Given the description of an element on the screen output the (x, y) to click on. 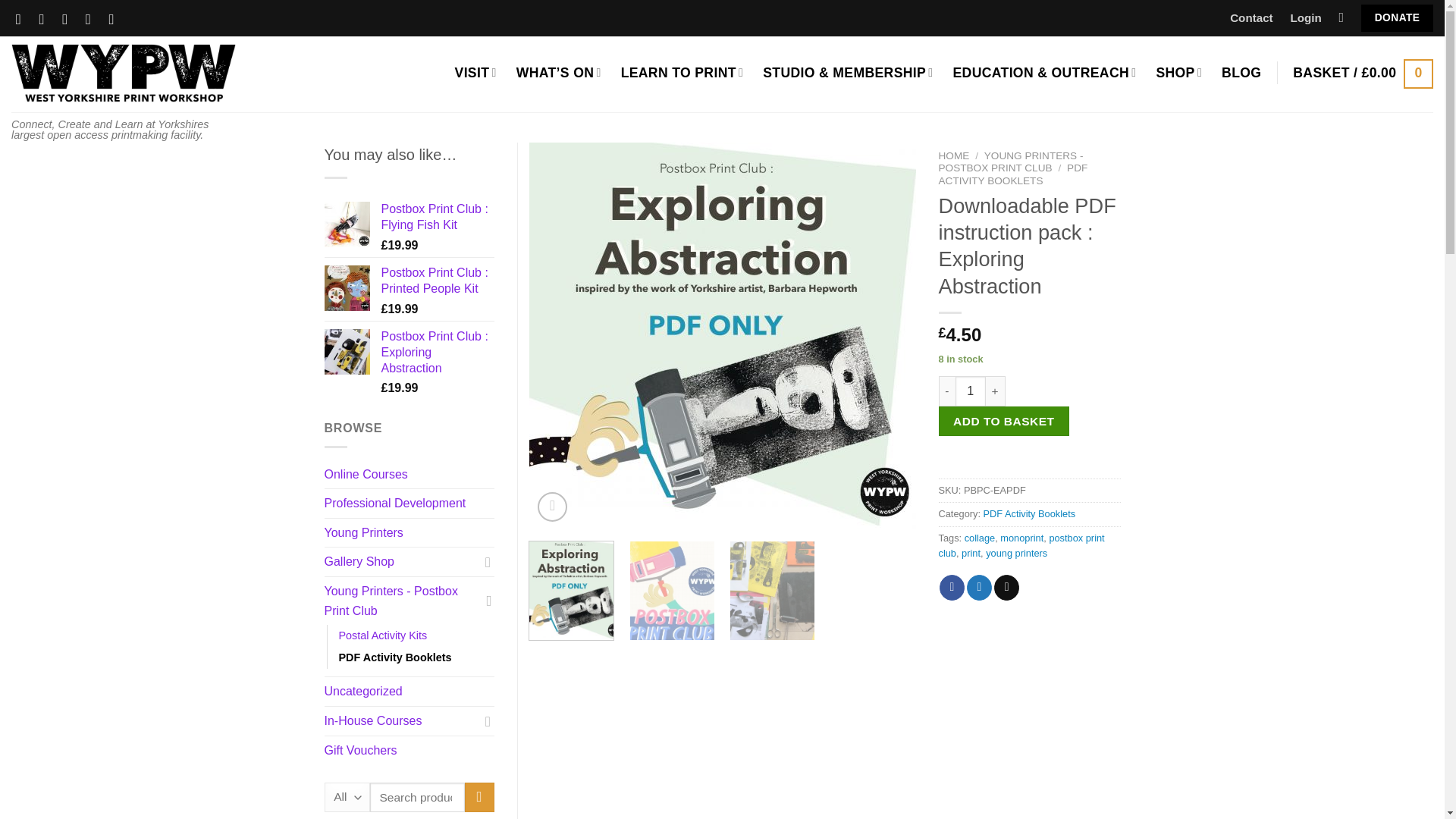
Basket (1362, 72)
Follow on Pinterest (92, 19)
Zoom (552, 506)
Follow on YouTube (116, 19)
Login (1305, 18)
PayPal (1030, 465)
Follow on Instagram (45, 19)
Contact (1251, 18)
Login (1305, 18)
Follow on Twitter (69, 19)
1 (970, 390)
Follow on Facebook (23, 19)
DONATE (1396, 17)
